Given the description of an element on the screen output the (x, y) to click on. 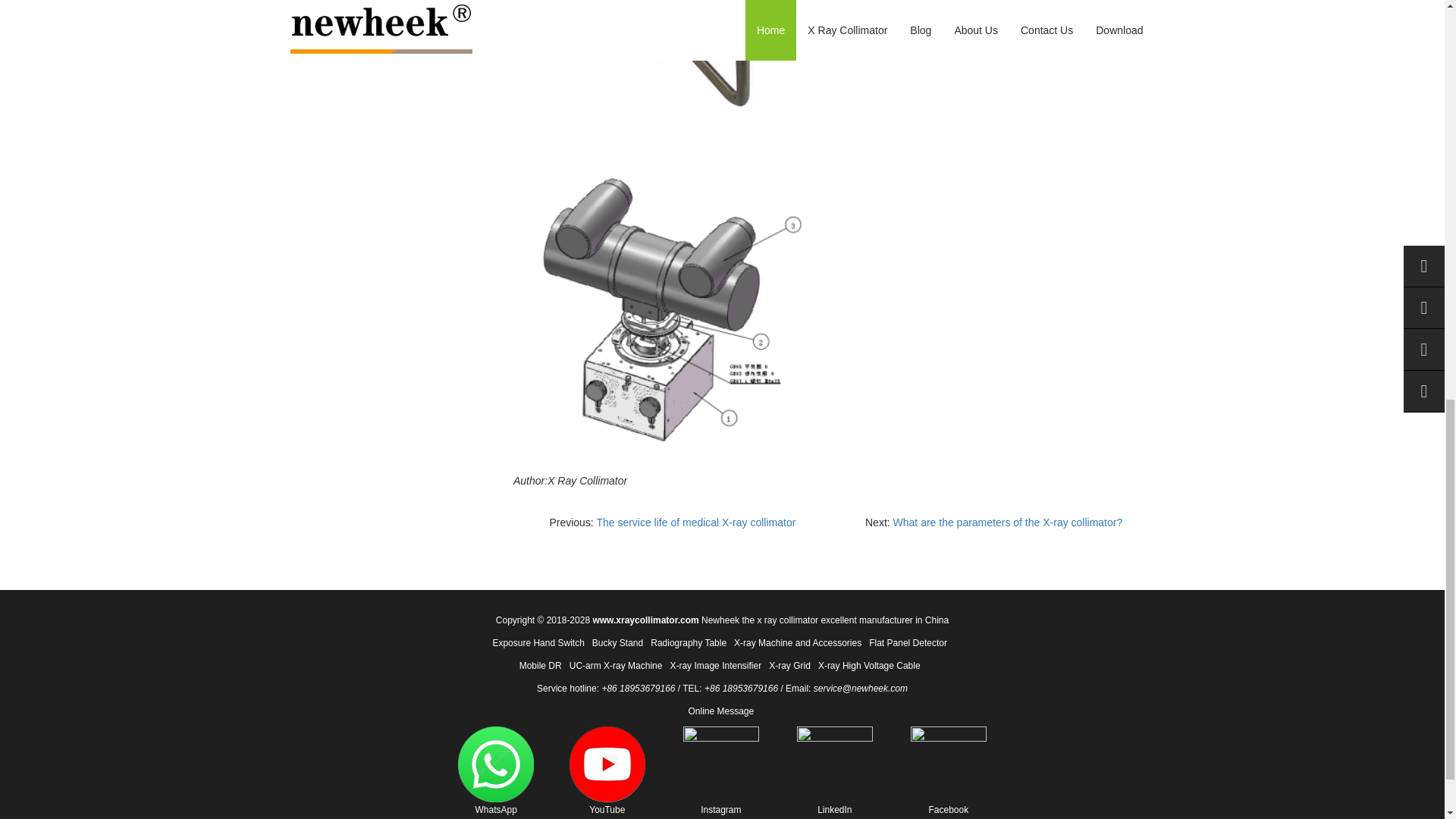
The service life of medical X-ray collimator (694, 522)
What are the parameters of the X-ray collimator? (1007, 522)
